Given the description of an element on the screen output the (x, y) to click on. 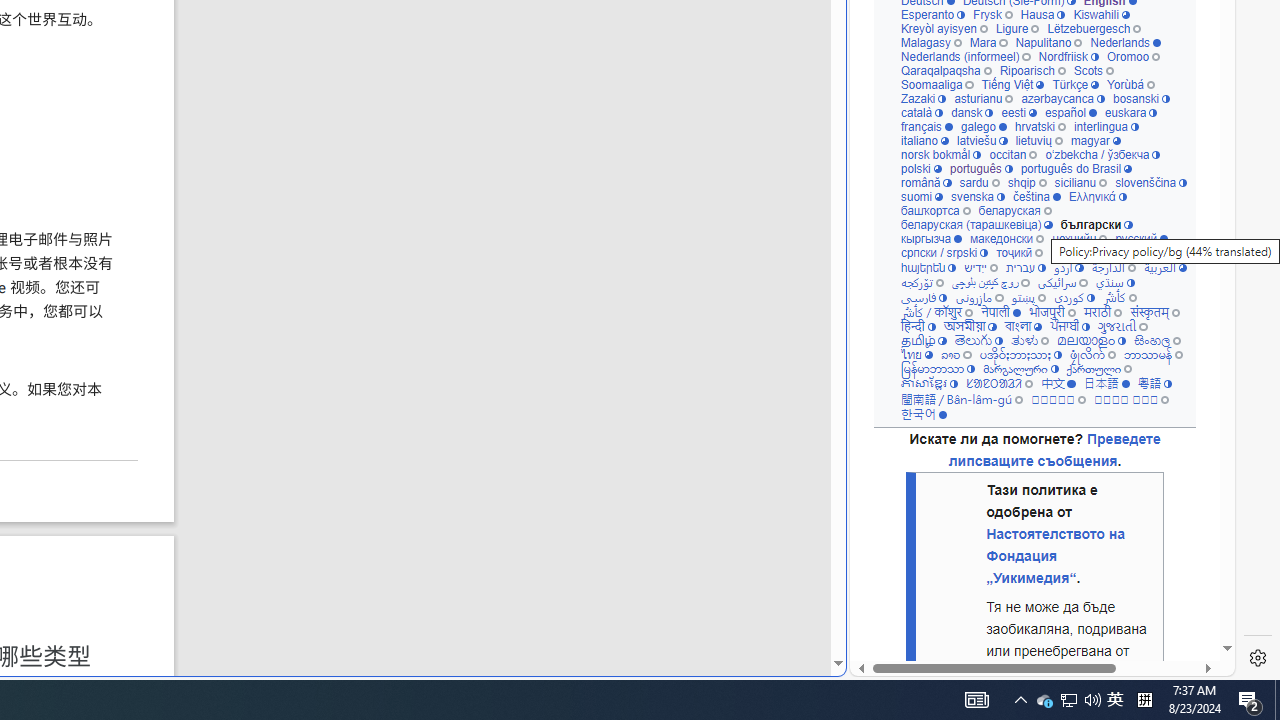
Nederlands (informeel) (964, 56)
polski (920, 168)
galego (983, 125)
magyar (1095, 140)
